Given the description of an element on the screen output the (x, y) to click on. 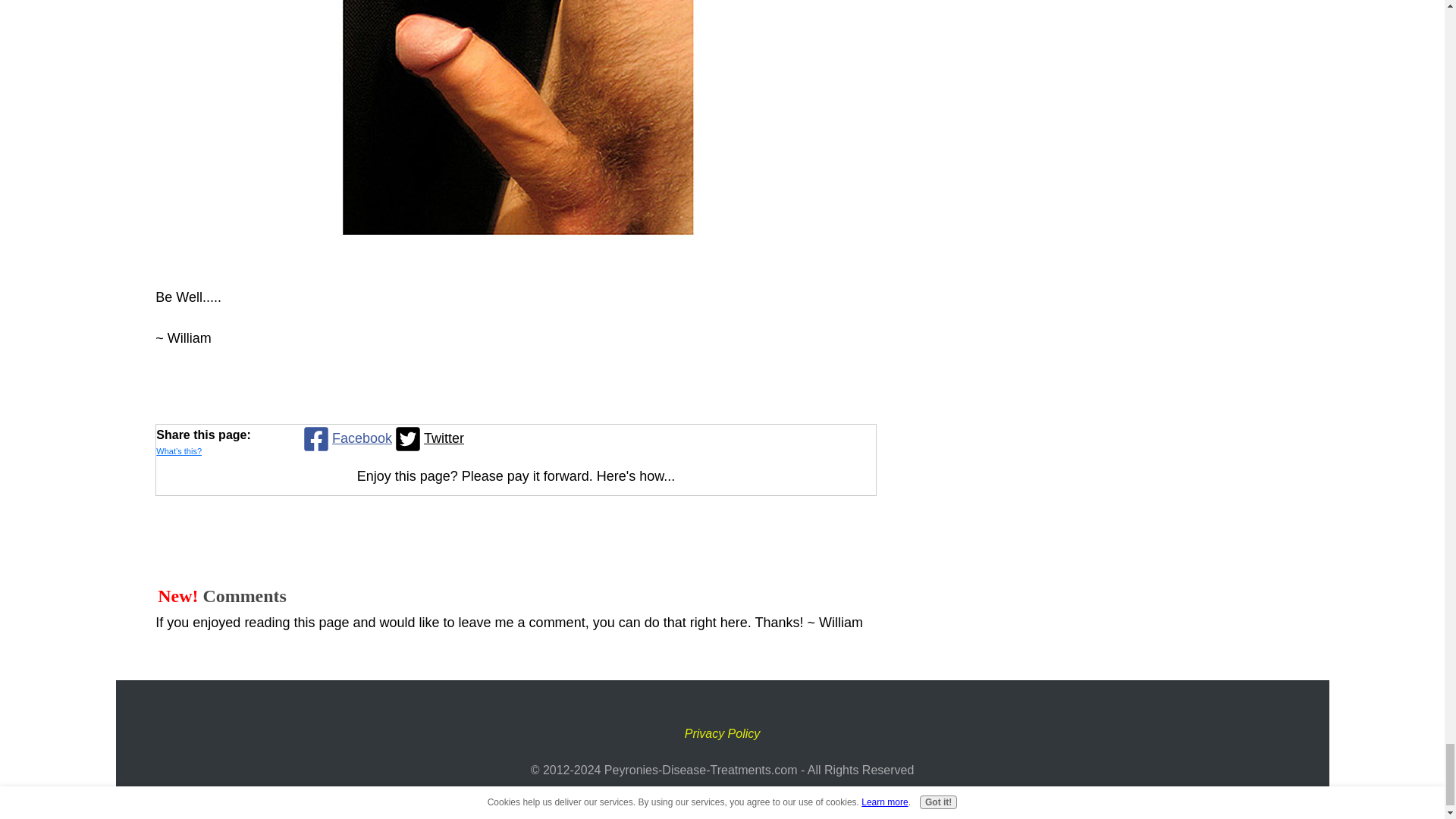
Facebook (345, 438)
Twitter (427, 438)
